Given the description of an element on the screen output the (x, y) to click on. 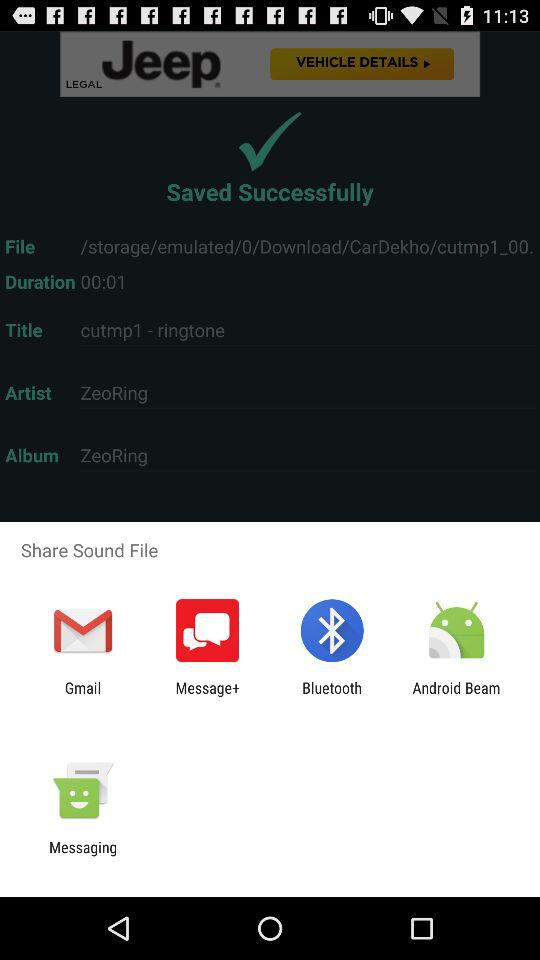
launch the item next to the bluetooth item (456, 696)
